Given the description of an element on the screen output the (x, y) to click on. 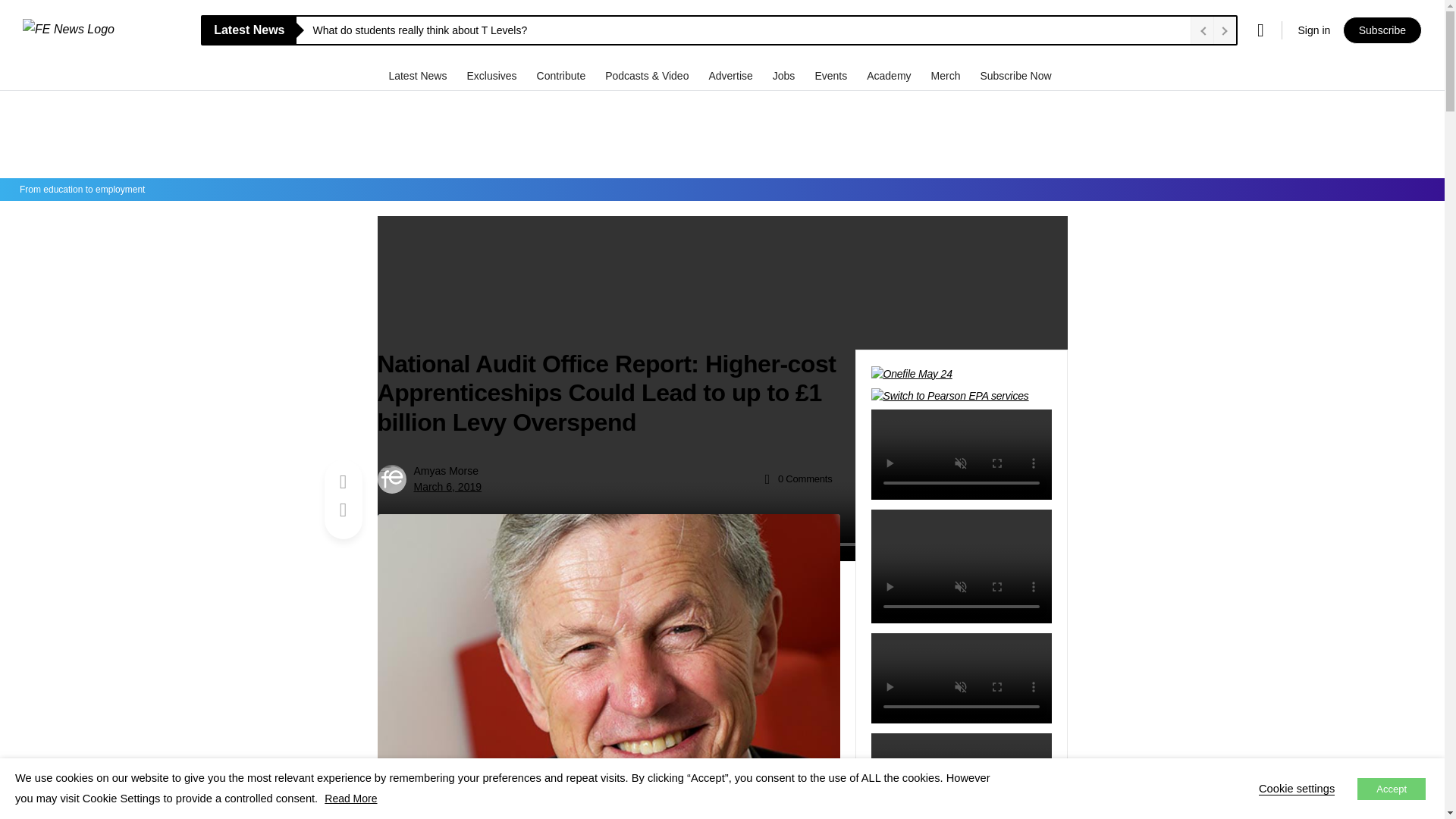
Subscribe (1382, 30)
Exclusives (493, 75)
Latest News (419, 75)
Sign in (1313, 30)
What do students really think about T Levels? (747, 30)
